Given the description of an element on the screen output the (x, y) to click on. 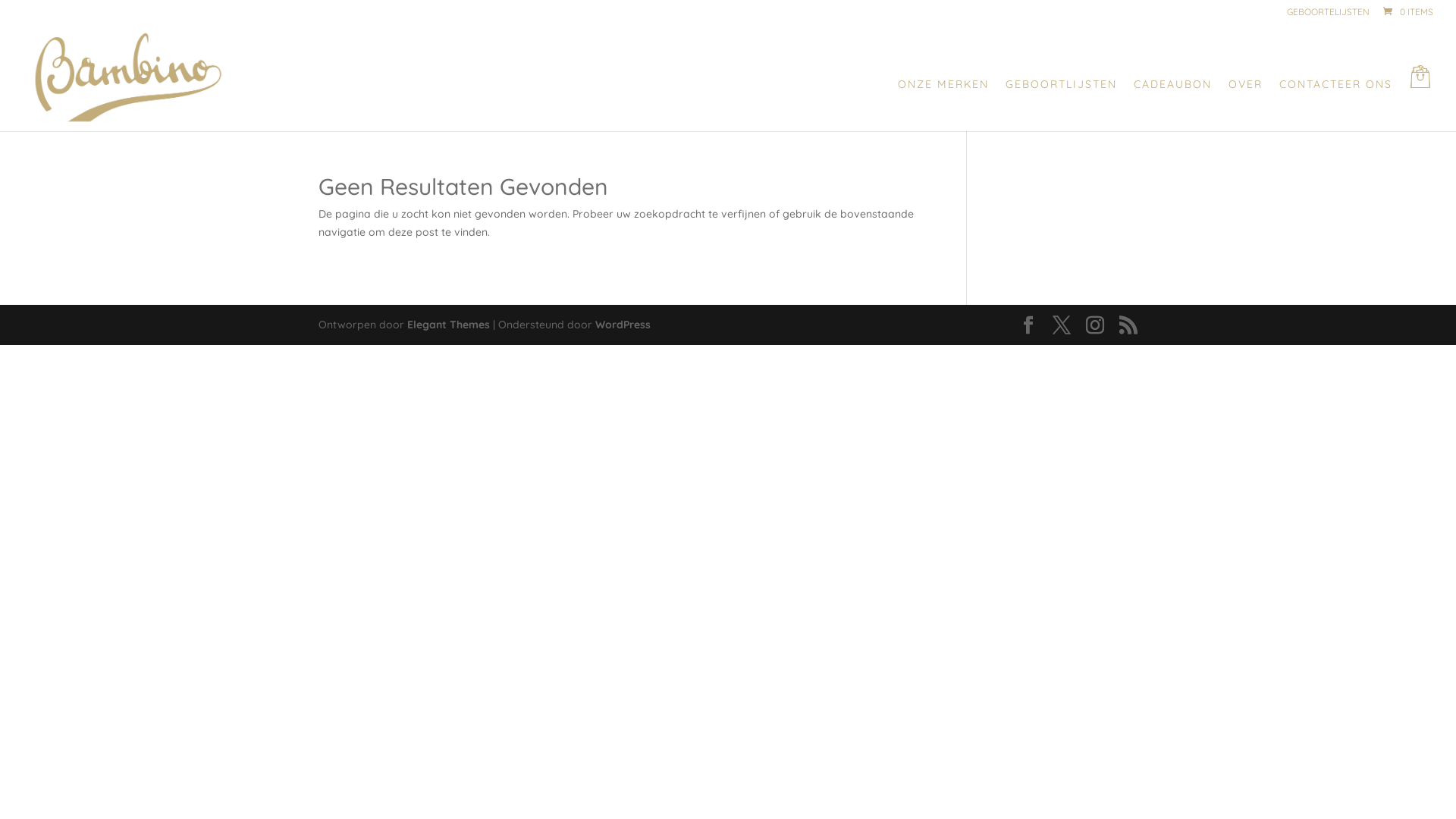
CONTACTEER ONS Element type: text (1335, 104)
GEBOORTELIJSTEN Element type: text (1327, 15)
0 ITEMS Element type: text (1406, 11)
ONZE MERKEN Element type: text (942, 104)
Elegant Themes Element type: text (448, 324)
WordPress Element type: text (622, 324)
OVER Element type: text (1245, 104)
CADEAUBON Element type: text (1172, 104)
GEBOORTLIJSTEN Element type: text (1061, 104)
